Given the description of an element on the screen output the (x, y) to click on. 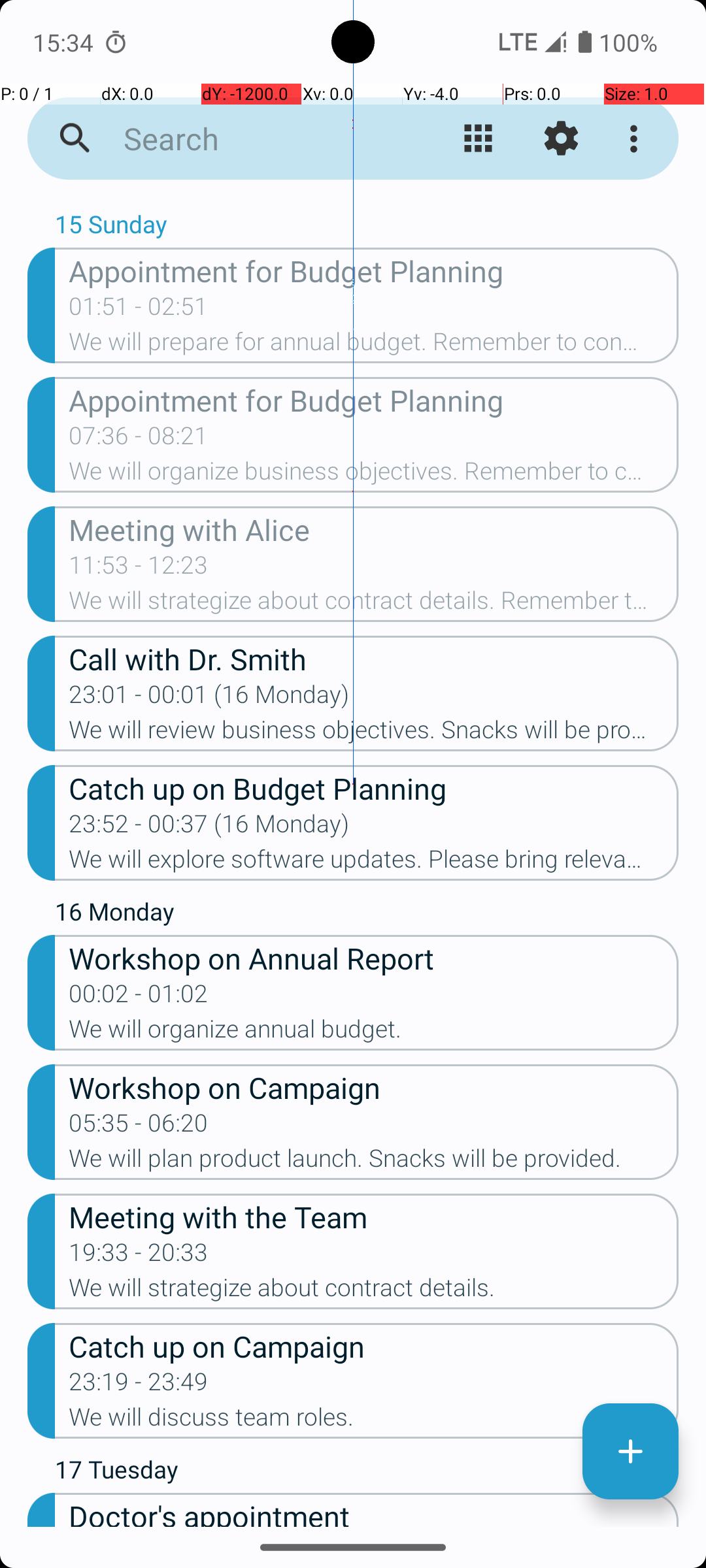
01:51 - 02:51 Element type: android.widget.TextView (137, 309)
We will prepare for annual budget. Remember to confirm attendance. Element type: android.widget.TextView (373, 345)
07:36 - 08:21 Element type: android.widget.TextView (137, 439)
We will organize business objectives. Remember to confirm attendance. Element type: android.widget.TextView (373, 474)
11:53 - 12:23 Element type: android.widget.TextView (137, 568)
We will strategize about contract details. Remember to confirm attendance. Element type: android.widget.TextView (373, 603)
23:01 - 00:01 (16 Monday) Element type: android.widget.TextView (208, 698)
We will review business objectives. Snacks will be provided. Element type: android.widget.TextView (373, 733)
23:52 - 00:37 (16 Monday) Element type: android.widget.TextView (208, 827)
We will explore software updates. Please bring relevant documents. Element type: android.widget.TextView (373, 862)
00:02 - 01:02 Element type: android.widget.TextView (137, 997)
We will organize annual budget. Element type: android.widget.TextView (373, 1032)
05:35 - 06:20 Element type: android.widget.TextView (137, 1126)
We will plan product launch. Snacks will be provided. Element type: android.widget.TextView (373, 1161)
19:33 - 20:33 Element type: android.widget.TextView (137, 1256)
We will strategize about contract details. Element type: android.widget.TextView (373, 1291)
23:19 - 23:49 Element type: android.widget.TextView (137, 1385)
We will discuss team roles. Element type: android.widget.TextView (373, 1420)
Doctor's appointment Element type: android.widget.TextView (373, 1509)
